Given the description of an element on the screen output the (x, y) to click on. 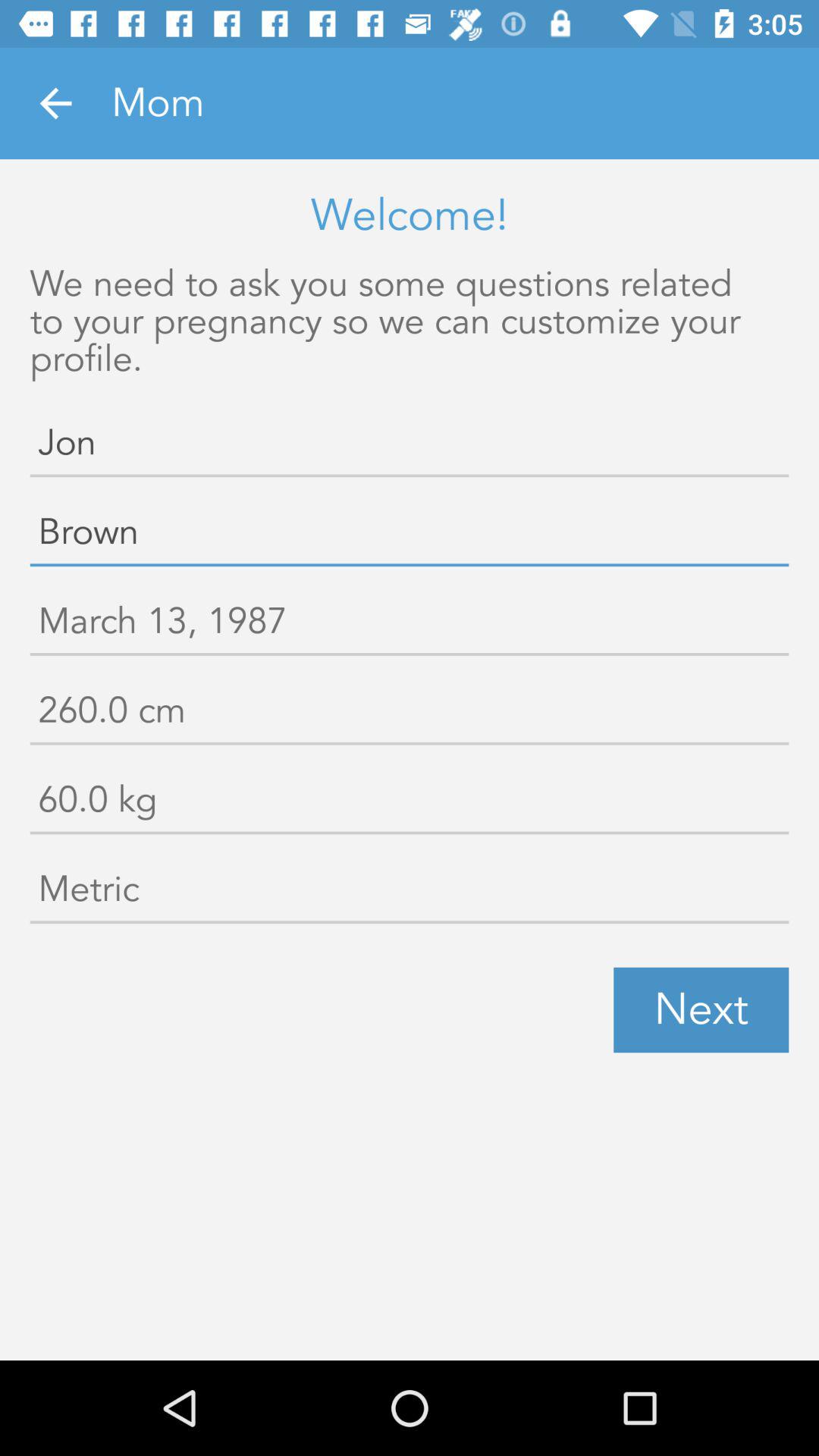
turn on the item next to mom icon (55, 103)
